Given the description of an element on the screen output the (x, y) to click on. 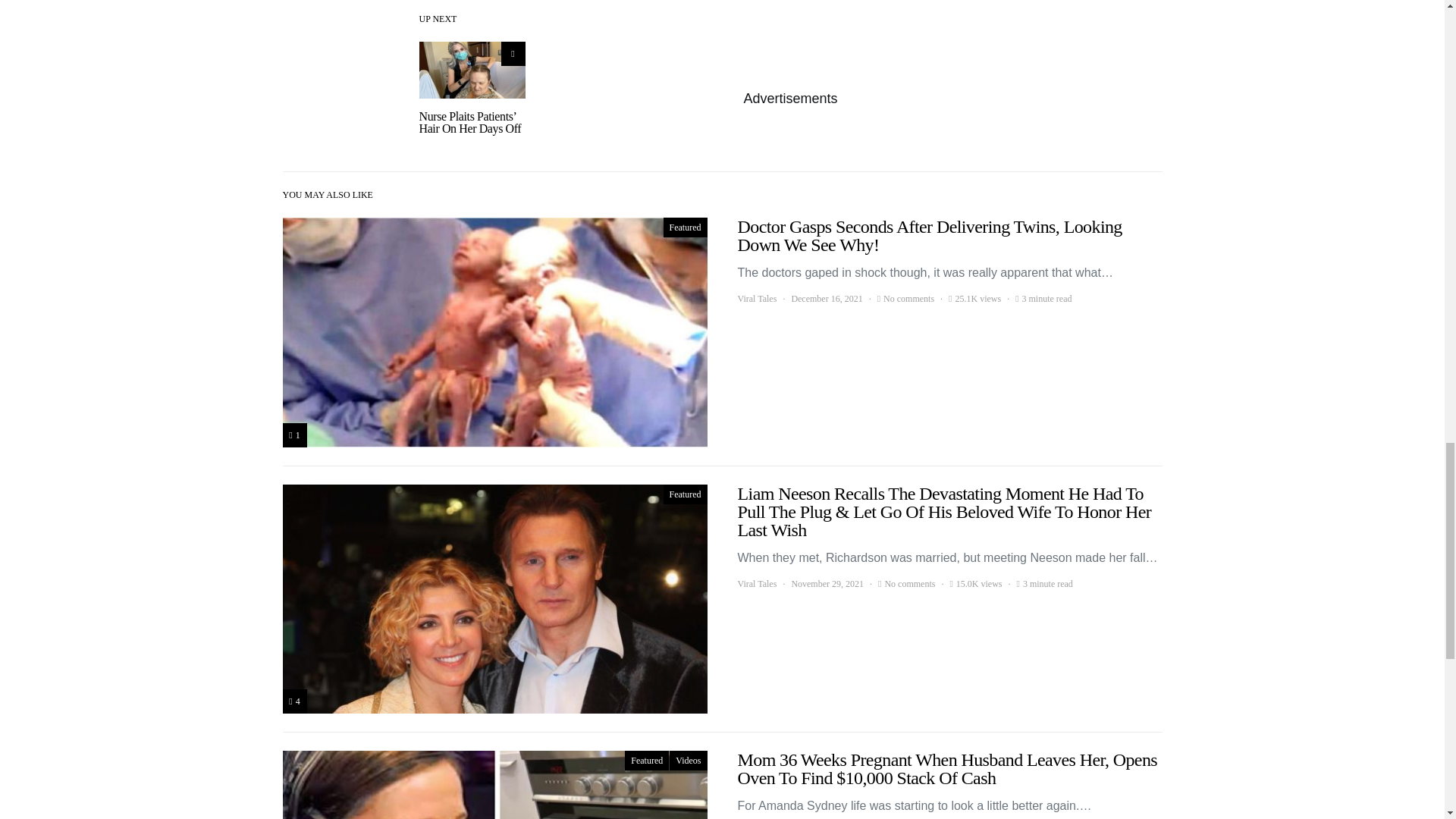
View all posts by Viral Tales (756, 298)
Viral Tales (756, 298)
4 (293, 701)
Featured (685, 494)
View all posts by Viral Tales (756, 583)
Viral Tales (756, 583)
Featured (646, 760)
No comments (908, 298)
No comments (908, 583)
Videos (687, 760)
1 (293, 435)
Featured (685, 227)
